Given the description of an element on the screen output the (x, y) to click on. 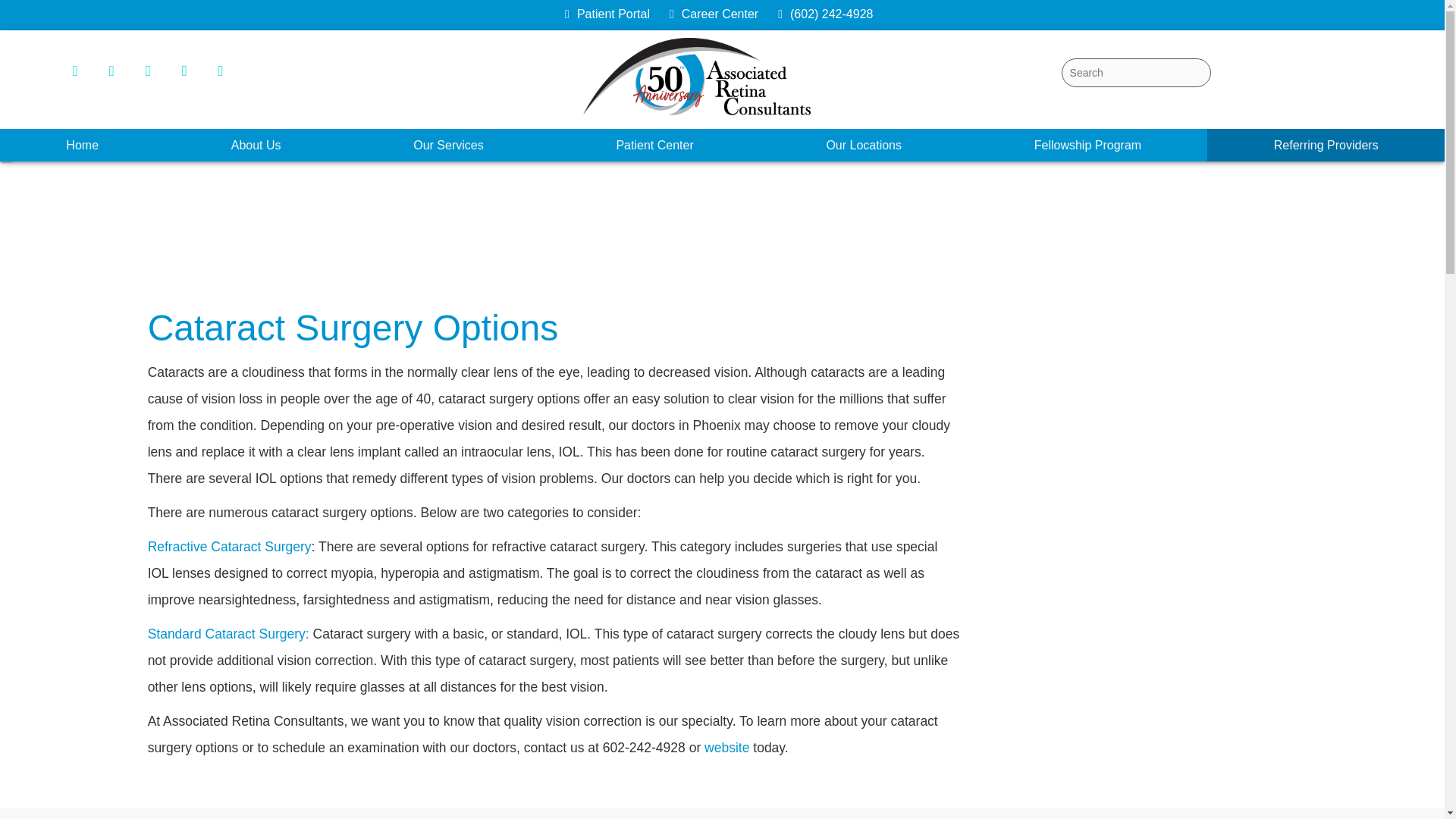
Our Services (448, 144)
Our Locations (863, 144)
Patient Center (654, 144)
Career Center (718, 13)
Home (81, 144)
Patient Portal (610, 13)
About Us (256, 144)
